Given the description of an element on the screen output the (x, y) to click on. 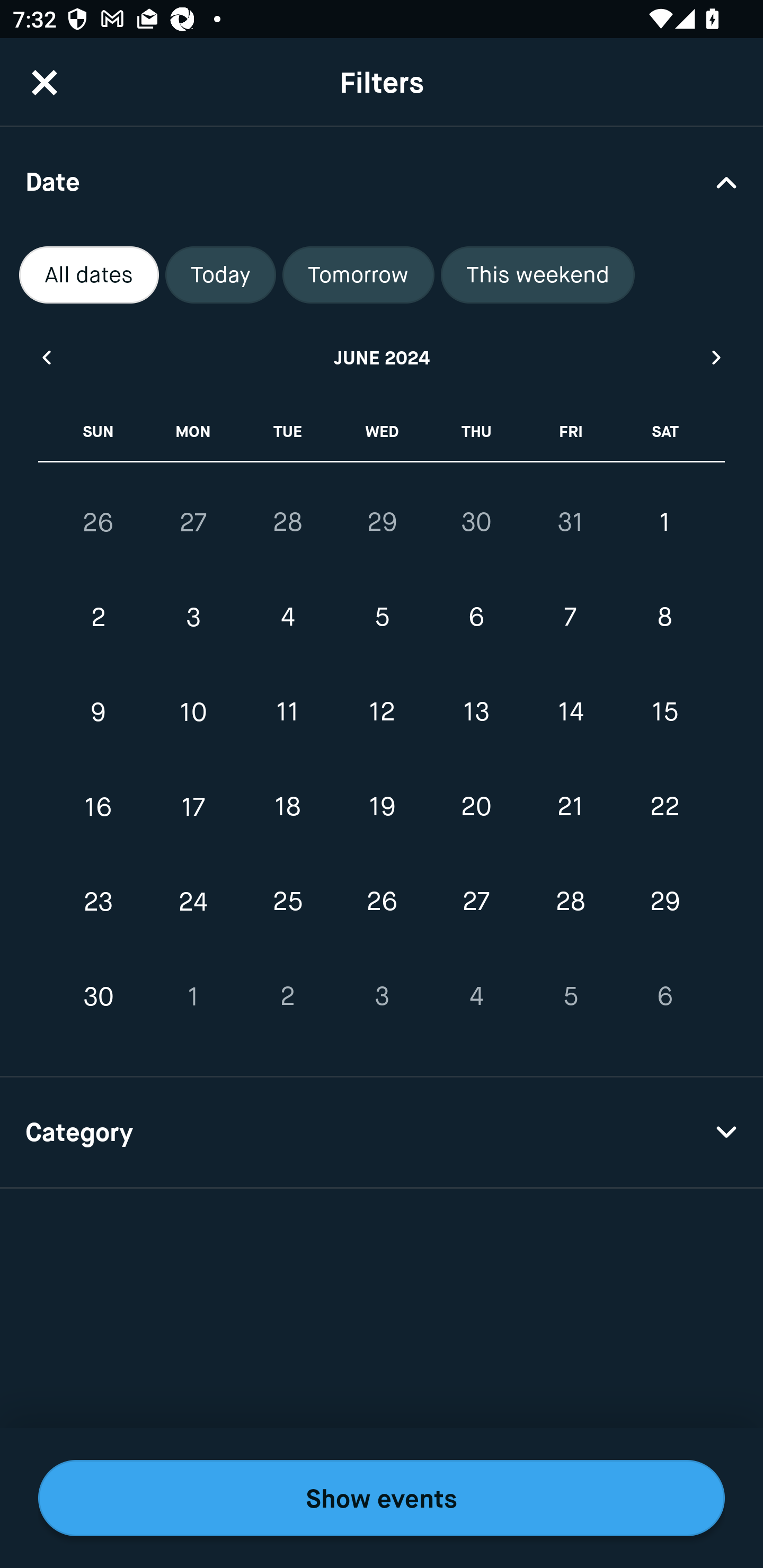
CloseButton (44, 82)
Date Drop Down Arrow (381, 181)
All dates (88, 274)
Today (220, 274)
Tomorrow (358, 274)
This weekend (537, 274)
Previous (45, 357)
Next (717, 357)
26 (98, 522)
27 (192, 522)
28 (287, 522)
29 (381, 522)
30 (475, 522)
31 (570, 522)
1 (664, 522)
2 (98, 617)
3 (192, 617)
4 (287, 617)
5 (381, 617)
6 (475, 617)
7 (570, 617)
8 (664, 617)
9 (98, 711)
10 (192, 711)
11 (287, 711)
12 (381, 711)
13 (475, 711)
14 (570, 711)
15 (664, 711)
16 (98, 806)
17 (192, 806)
18 (287, 806)
19 (381, 806)
20 (475, 806)
21 (570, 806)
22 (664, 806)
23 (98, 901)
24 (192, 901)
25 (287, 901)
26 (381, 901)
27 (475, 901)
28 (570, 901)
29 (664, 901)
30 (98, 996)
1 (192, 996)
2 (287, 996)
3 (381, 996)
4 (475, 996)
5 (570, 996)
6 (664, 996)
